Given the description of an element on the screen output the (x, y) to click on. 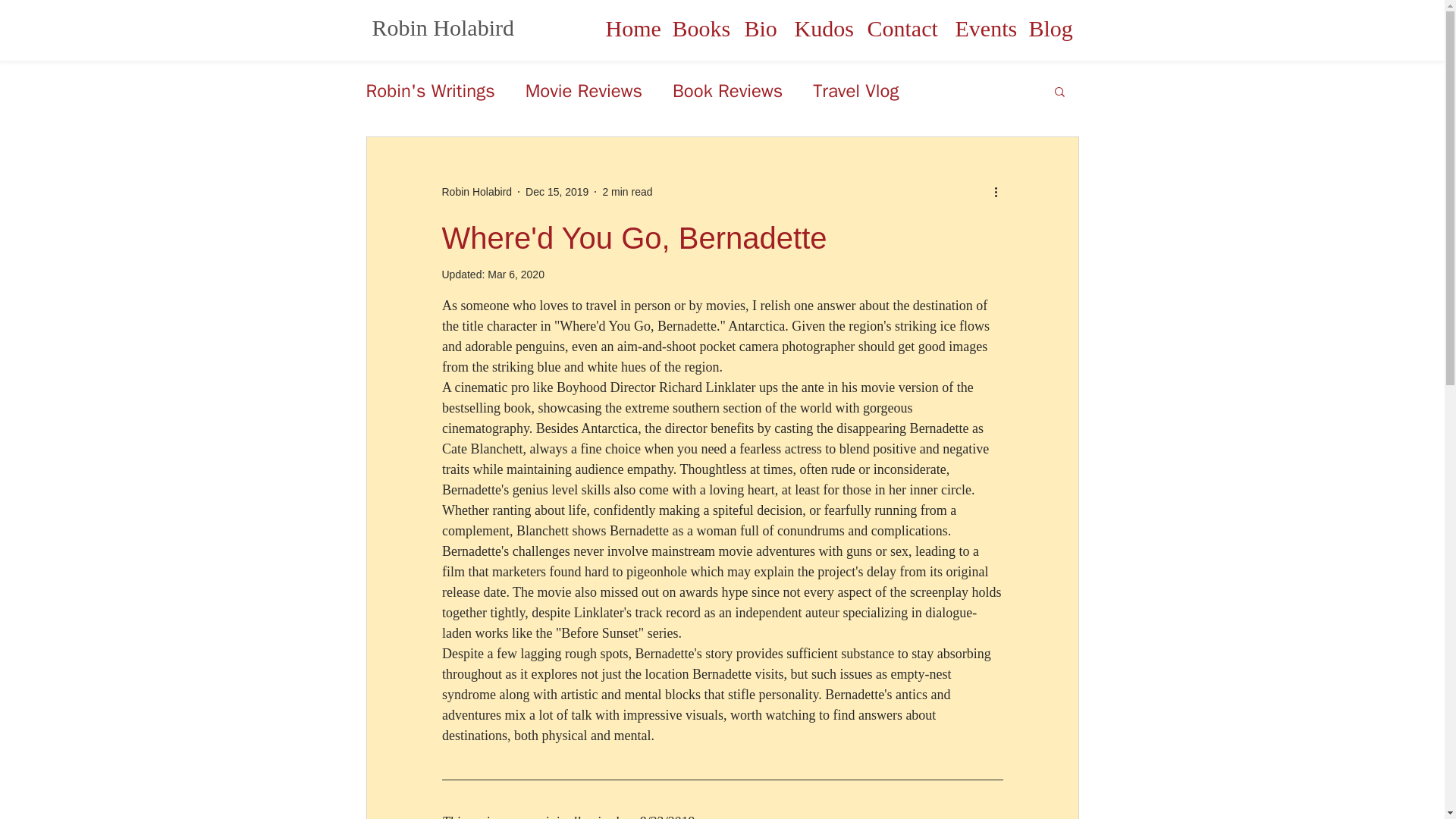
Robin Holabird (442, 27)
2 min read (627, 191)
Dec 15, 2019 (556, 191)
Books (697, 29)
Events (979, 29)
Robin Holabird (476, 191)
Mar 6, 2020 (515, 274)
Movie Reviews (583, 90)
Kudos (819, 29)
Robin's Writings (430, 90)
